Given the description of an element on the screen output the (x, y) to click on. 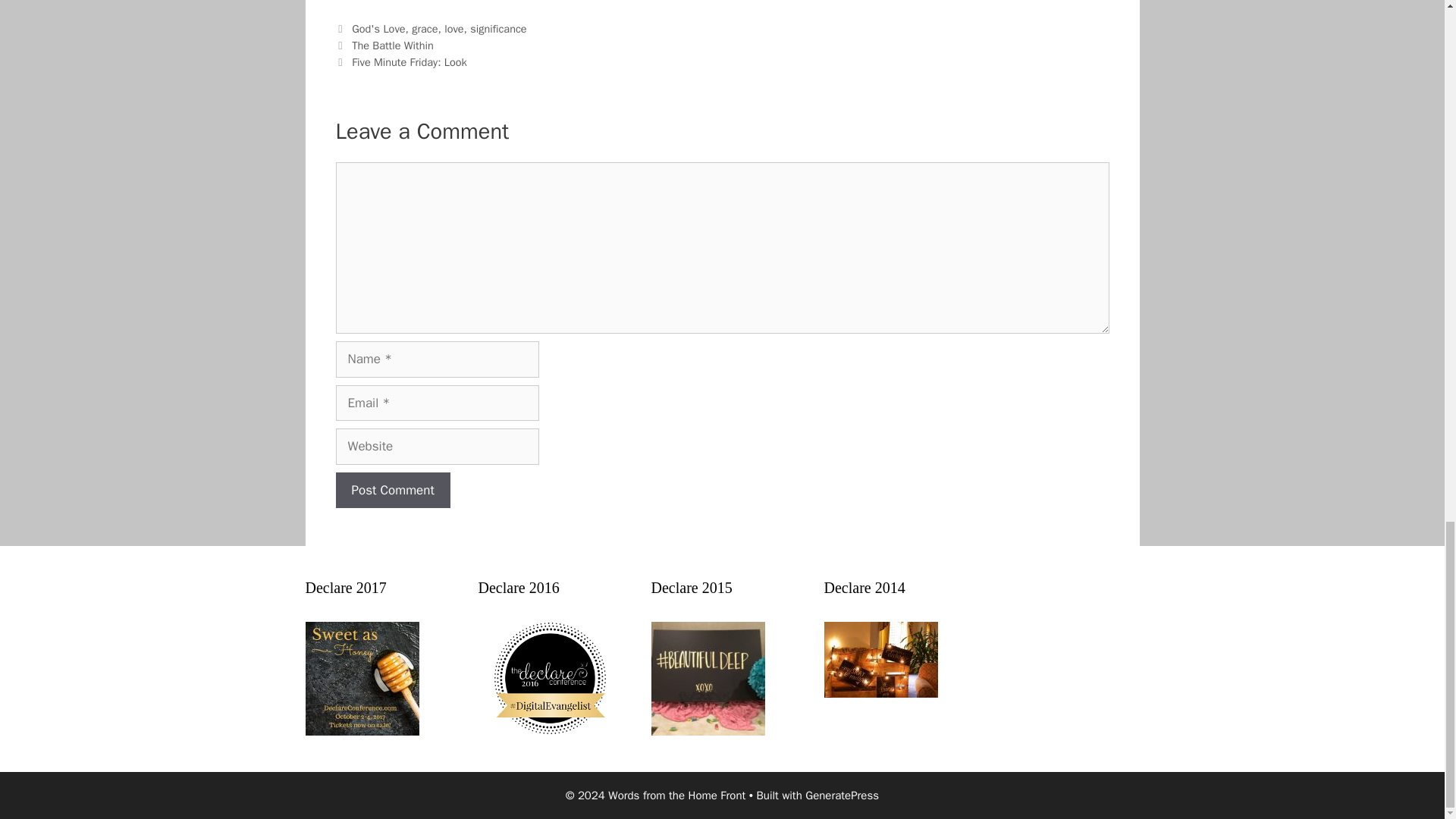
significance (497, 29)
Post Comment (391, 490)
God's Love (378, 29)
love (453, 29)
GeneratePress (842, 795)
Post Comment (391, 490)
grace (425, 29)
The Battle Within (392, 45)
Five Minute Friday: Look (409, 61)
